Given the description of an element on the screen output the (x, y) to click on. 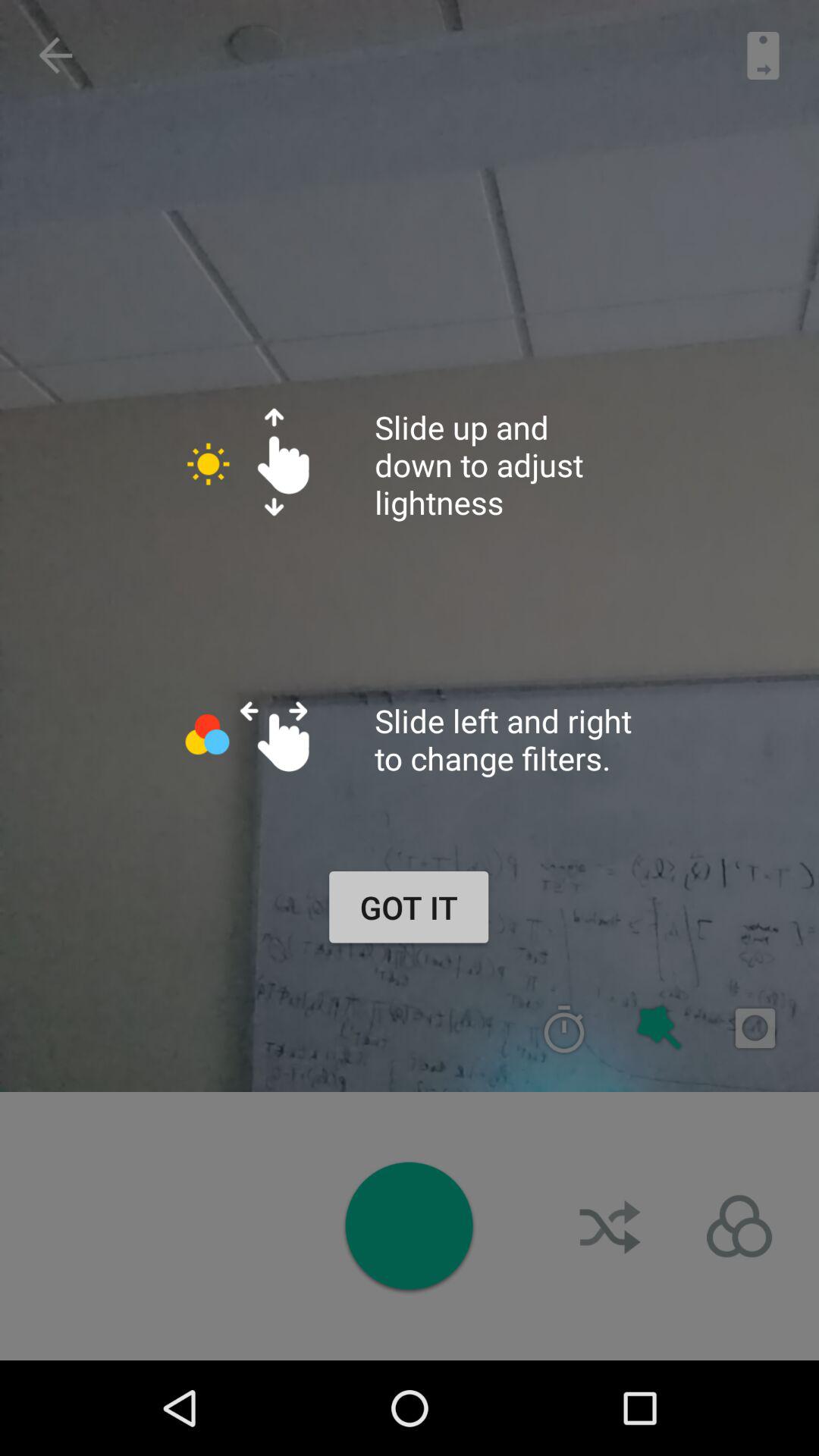
go back (55, 55)
